Given the description of an element on the screen output the (x, y) to click on. 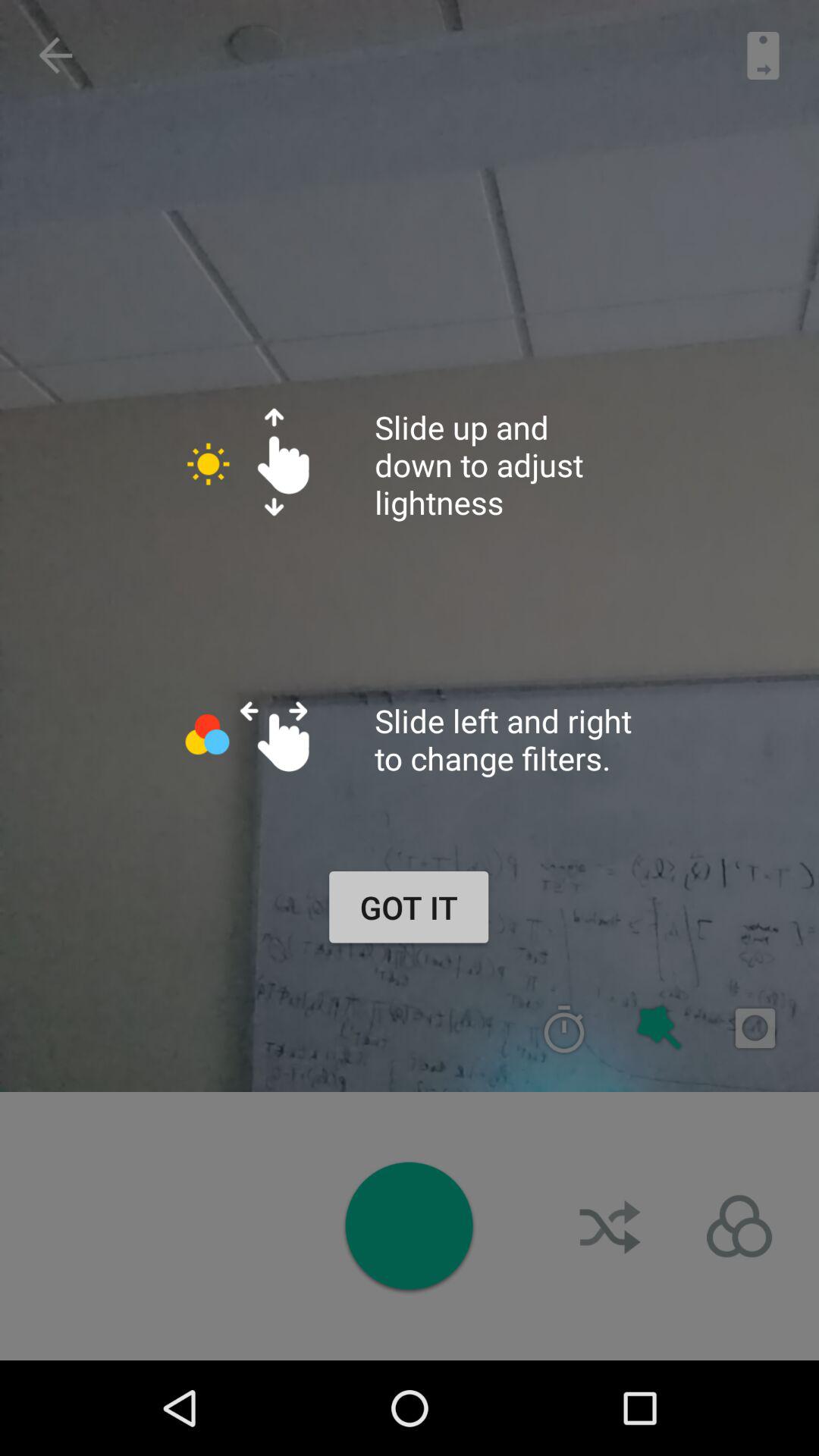
go back (55, 55)
